Given the description of an element on the screen output the (x, y) to click on. 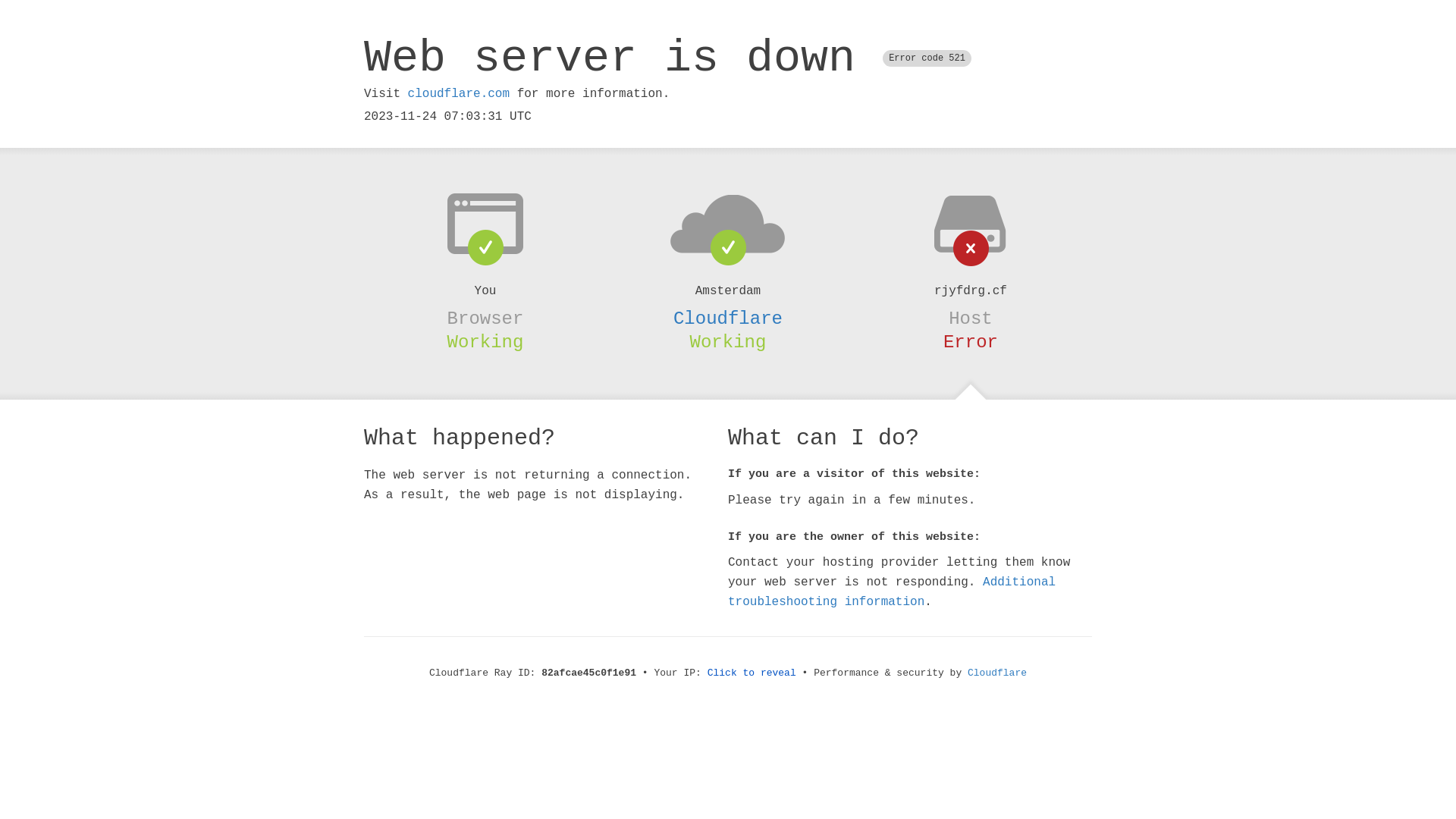
cloudflare.com Element type: text (458, 93)
Cloudflare Element type: text (727, 318)
Cloudflare Element type: text (996, 672)
Additional troubleshooting information Element type: text (891, 591)
Click to reveal Element type: text (751, 672)
